Given the description of an element on the screen output the (x, y) to click on. 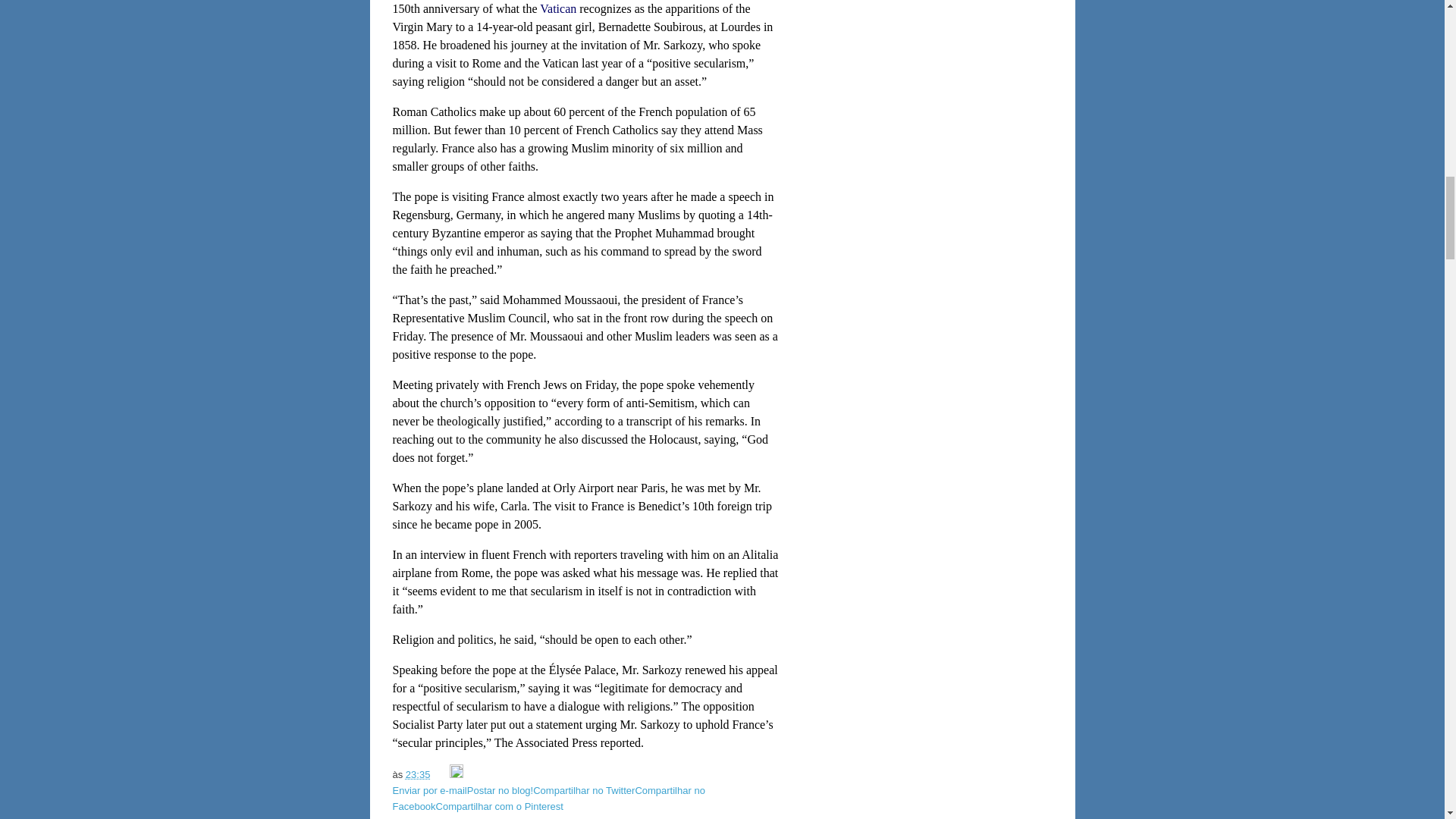
Compartilhar no Twitter (583, 790)
Enviar por e-mail (430, 790)
Enviar esta postagem (440, 774)
Enviar por e-mail (430, 790)
23:35 (418, 774)
Vatican (558, 8)
Papado (529, 817)
Compartilhar com o Pinterest (499, 806)
permanent link (418, 774)
More articles about the Roman Catholic Church. (558, 8)
Postar no blog! (499, 790)
Compartilhar no Facebook (548, 798)
Ecumenismo (477, 817)
Editar postagem (456, 774)
Postar no blog! (499, 790)
